Given the description of an element on the screen output the (x, y) to click on. 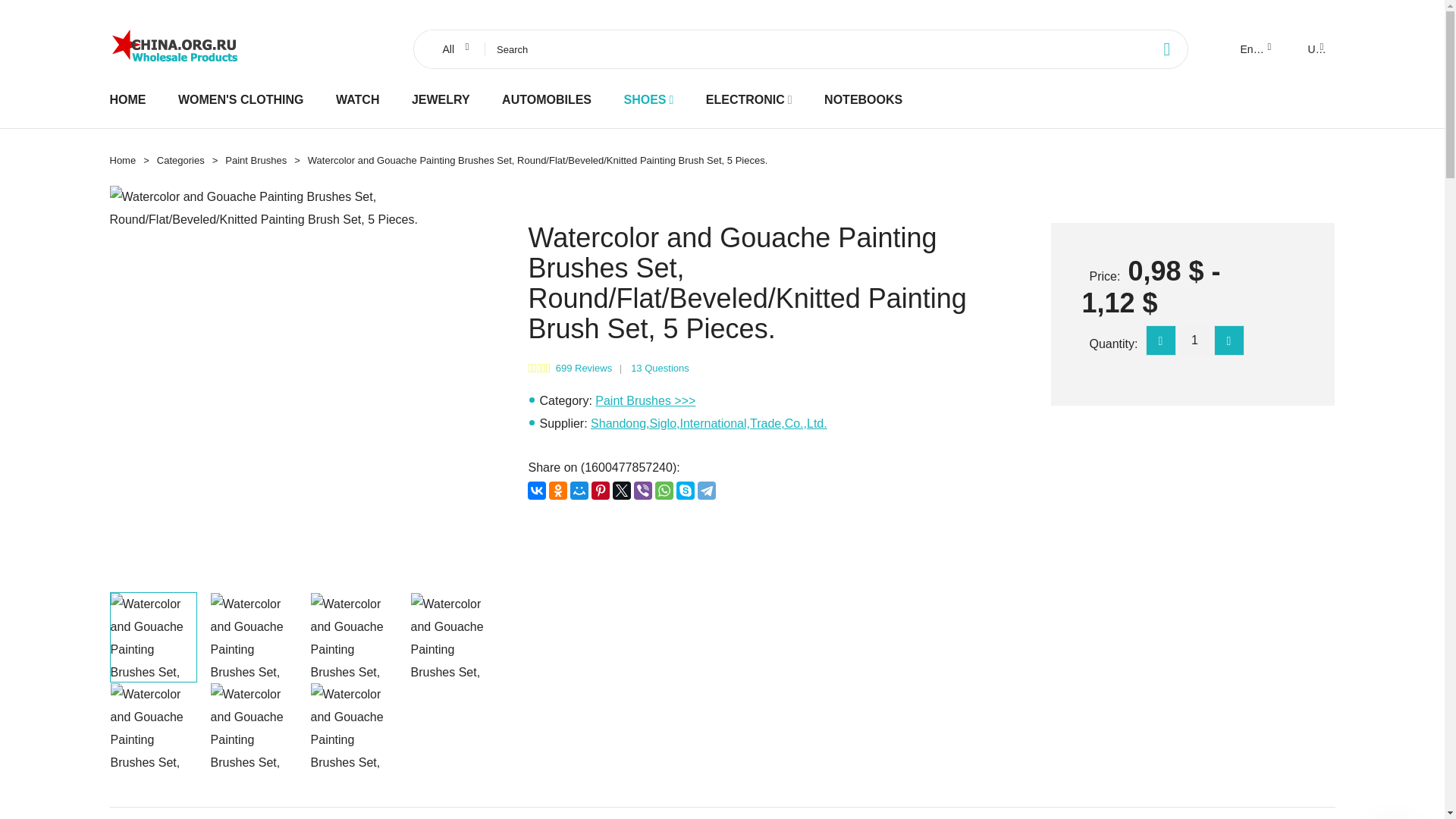
Categories (181, 160)
Pinterest (600, 490)
13 Questions (659, 367)
Viber (642, 490)
Home (122, 160)
WOMEN'S CLOTHING (240, 99)
USD (1314, 48)
Telegram (706, 490)
699 Reviews (583, 367)
SHOES (644, 99)
HOME (127, 99)
Twitter (621, 490)
WhatsApp (663, 490)
All (454, 48)
Paint Brushes (255, 160)
